Given the description of an element on the screen output the (x, y) to click on. 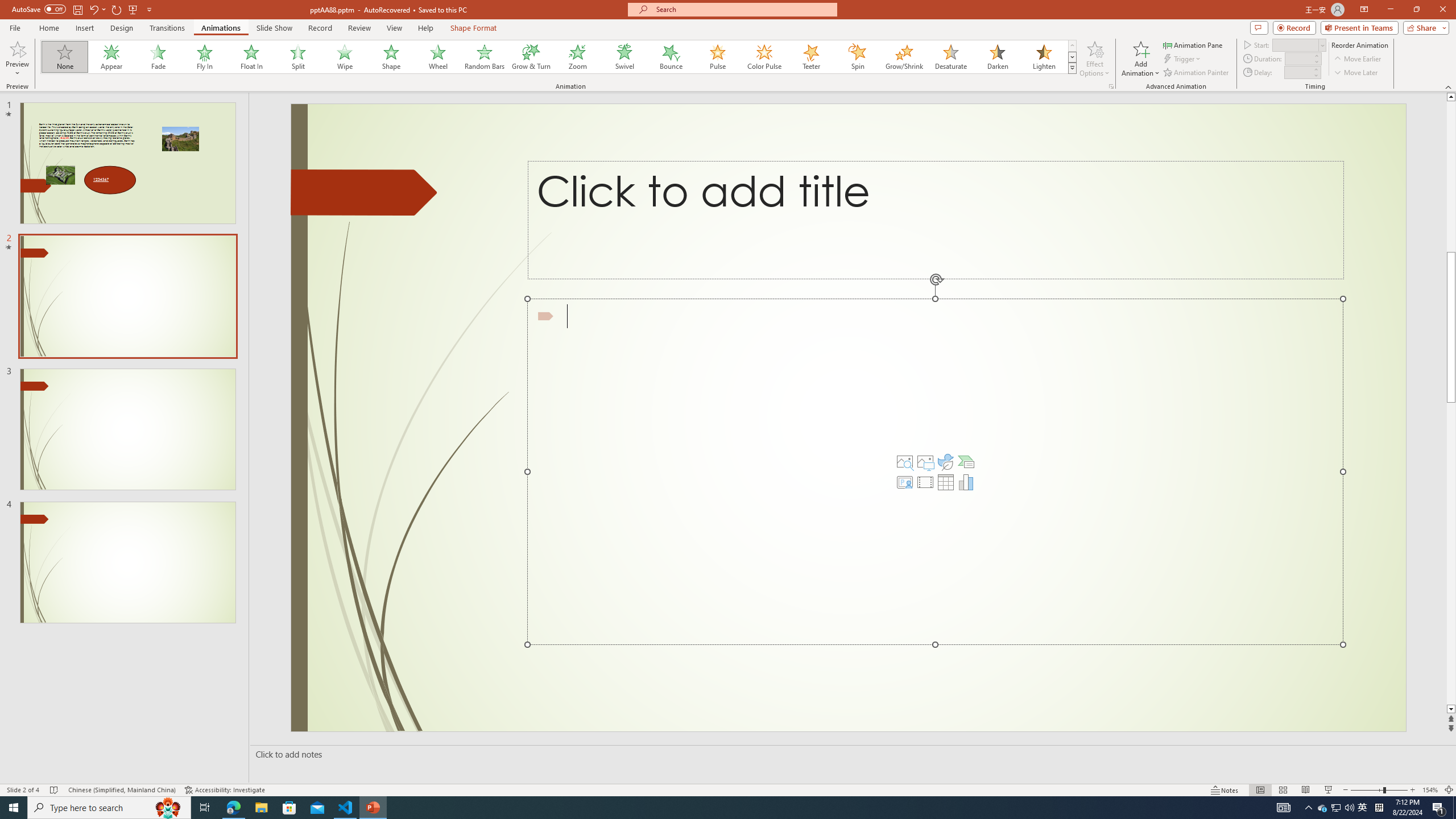
Zoom 154% (1430, 790)
Color Pulse (764, 56)
Move Earlier (1357, 58)
